Given the description of an element on the screen output the (x, y) to click on. 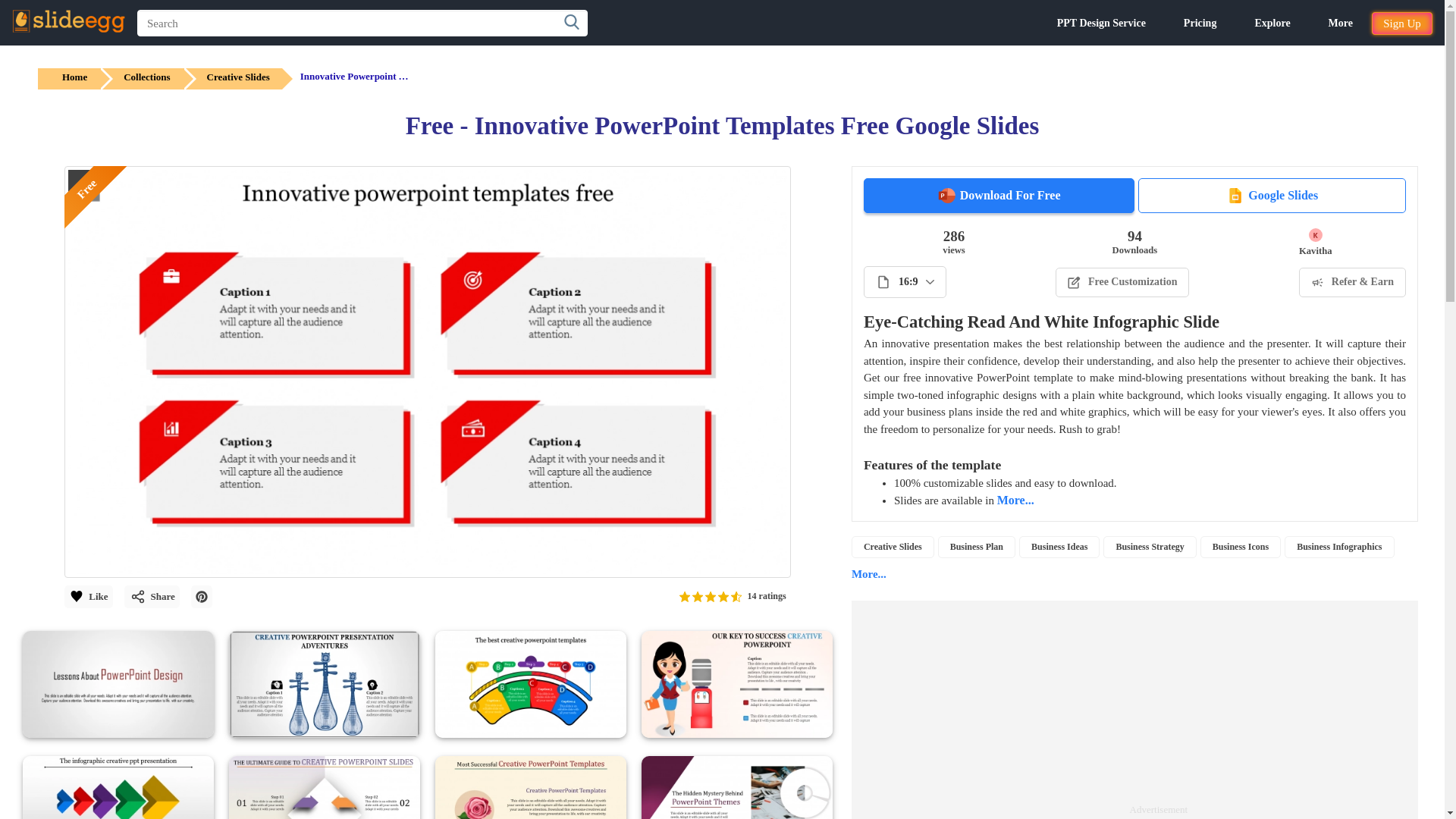
Explore (1271, 22)
SlideEgg (68, 21)
PPT Design Service (1101, 22)
Pricing (1200, 22)
